Given the description of an element on the screen output the (x, y) to click on. 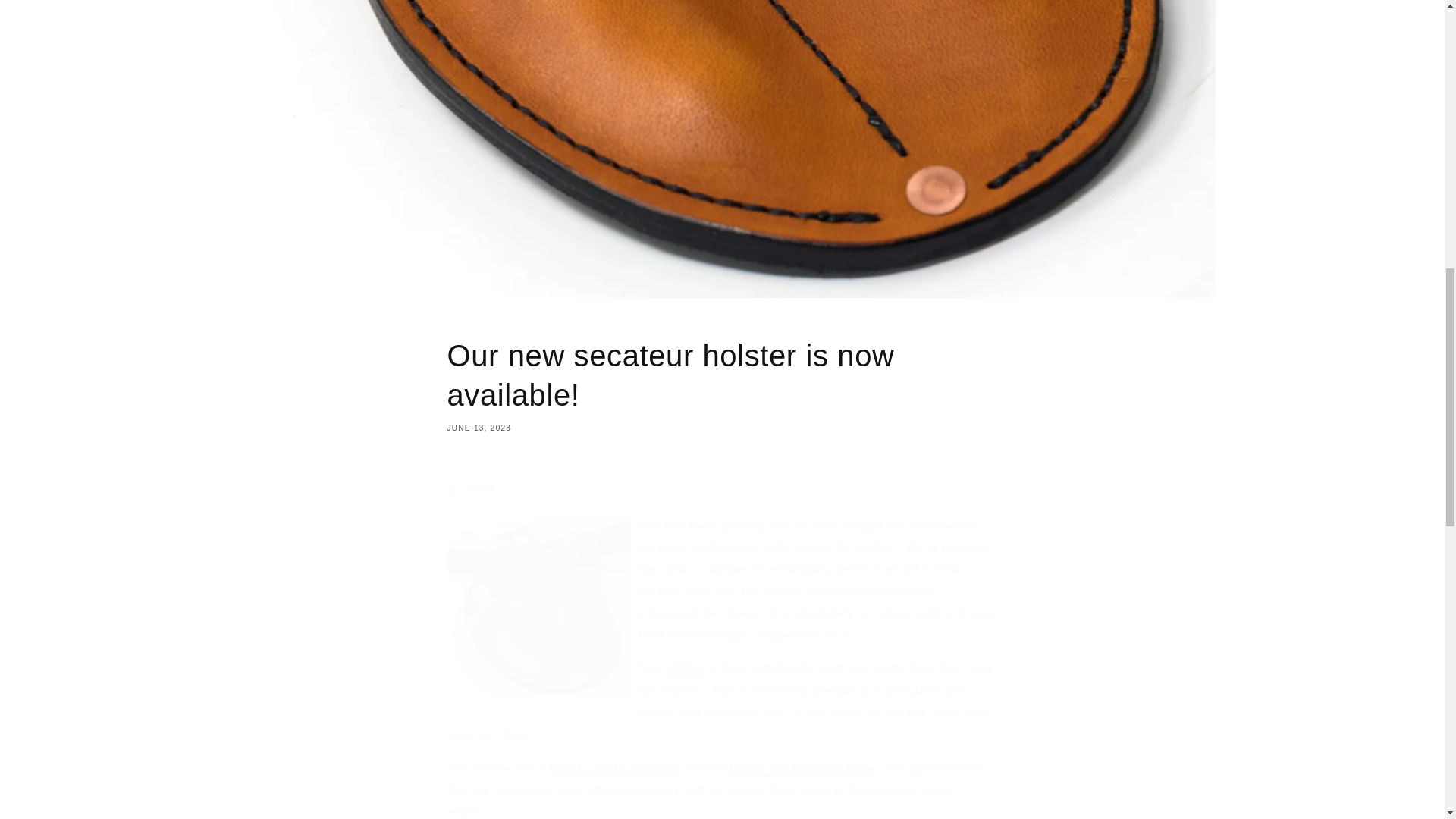
Share (721, 487)
Niwaki sentei secateurs available from Tinker and Fix (721, 384)
